Given the description of an element on the screen output the (x, y) to click on. 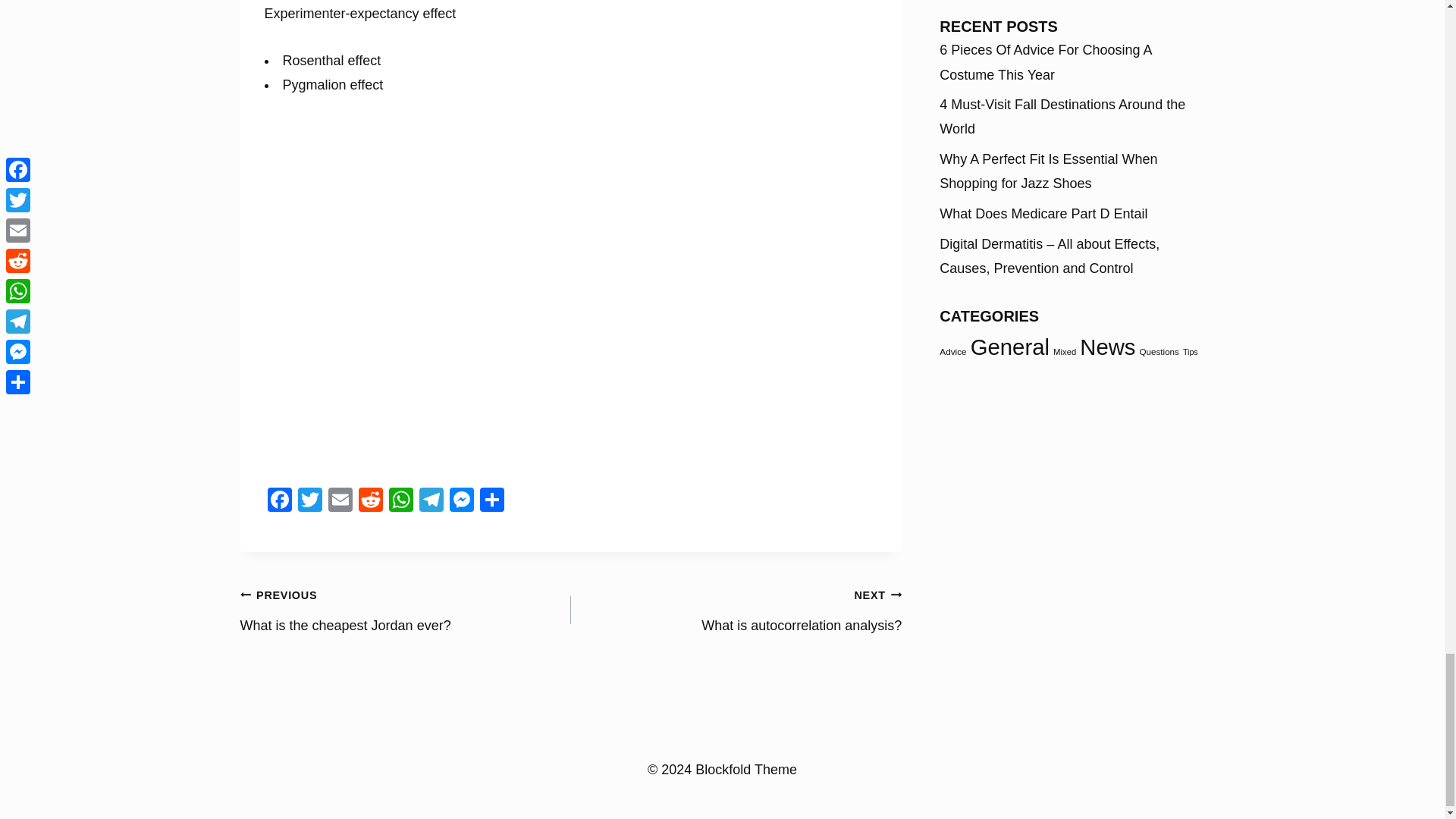
Telegram (429, 501)
Messenger (460, 501)
Reddit (370, 501)
Reddit (735, 610)
Twitter (370, 501)
WhatsApp (309, 501)
Actor Observer Effect (405, 610)
WhatsApp (399, 501)
